Given the description of an element on the screen output the (x, y) to click on. 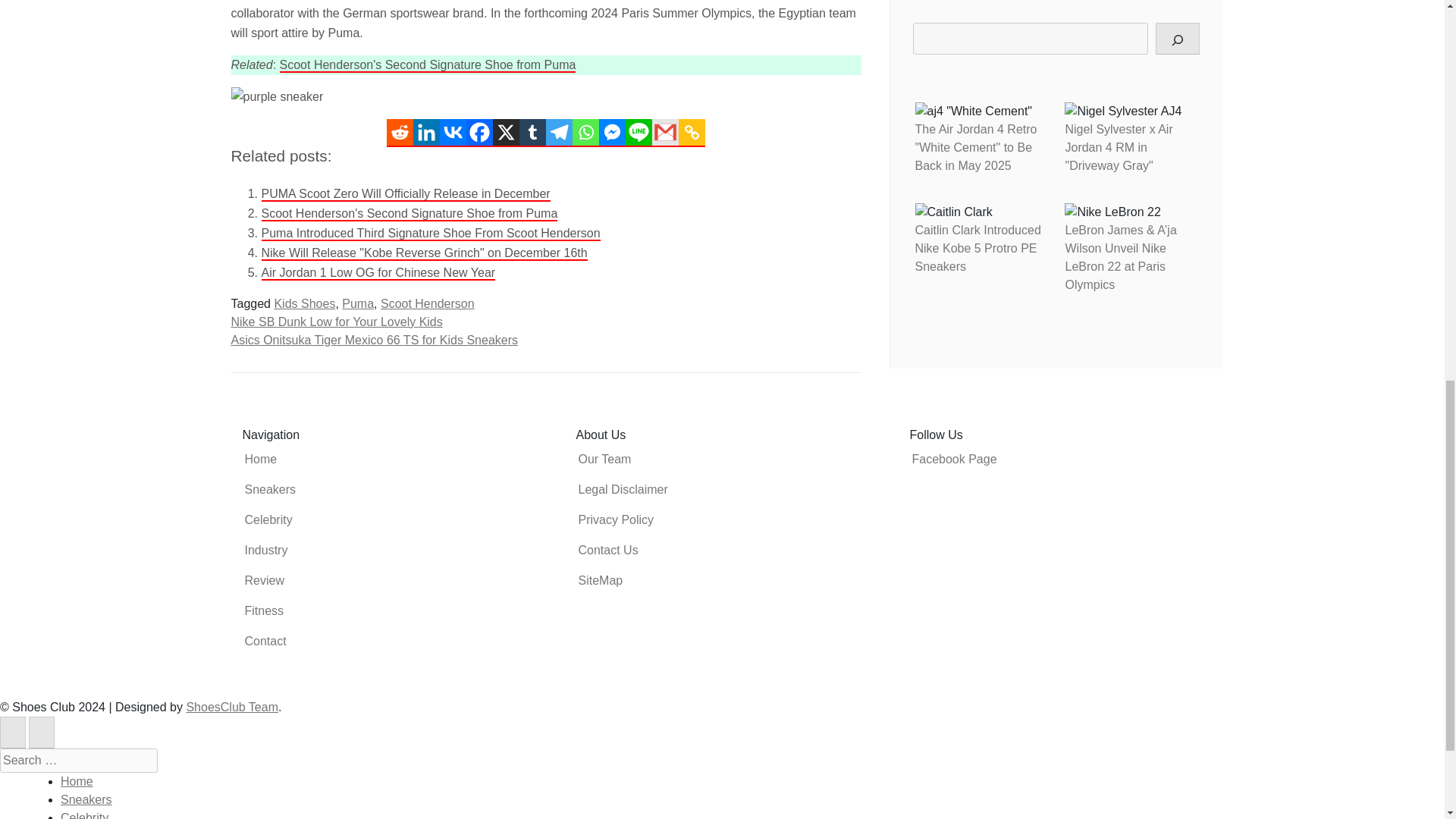
X (506, 132)
Facebook (479, 132)
Telegram (559, 132)
Asics Onitsuka Tiger Mexico 66 TS for Kids Sneakers (374, 339)
Tumblr (532, 132)
Nike Will Release "Kobe Reverse Grinch" on December 16th (423, 253)
Kids Shoes (303, 303)
Linkedin (426, 132)
PUMA Scoot Zero Will Officially Release in December (405, 194)
Scoot Henderson (427, 303)
